Given the description of an element on the screen output the (x, y) to click on. 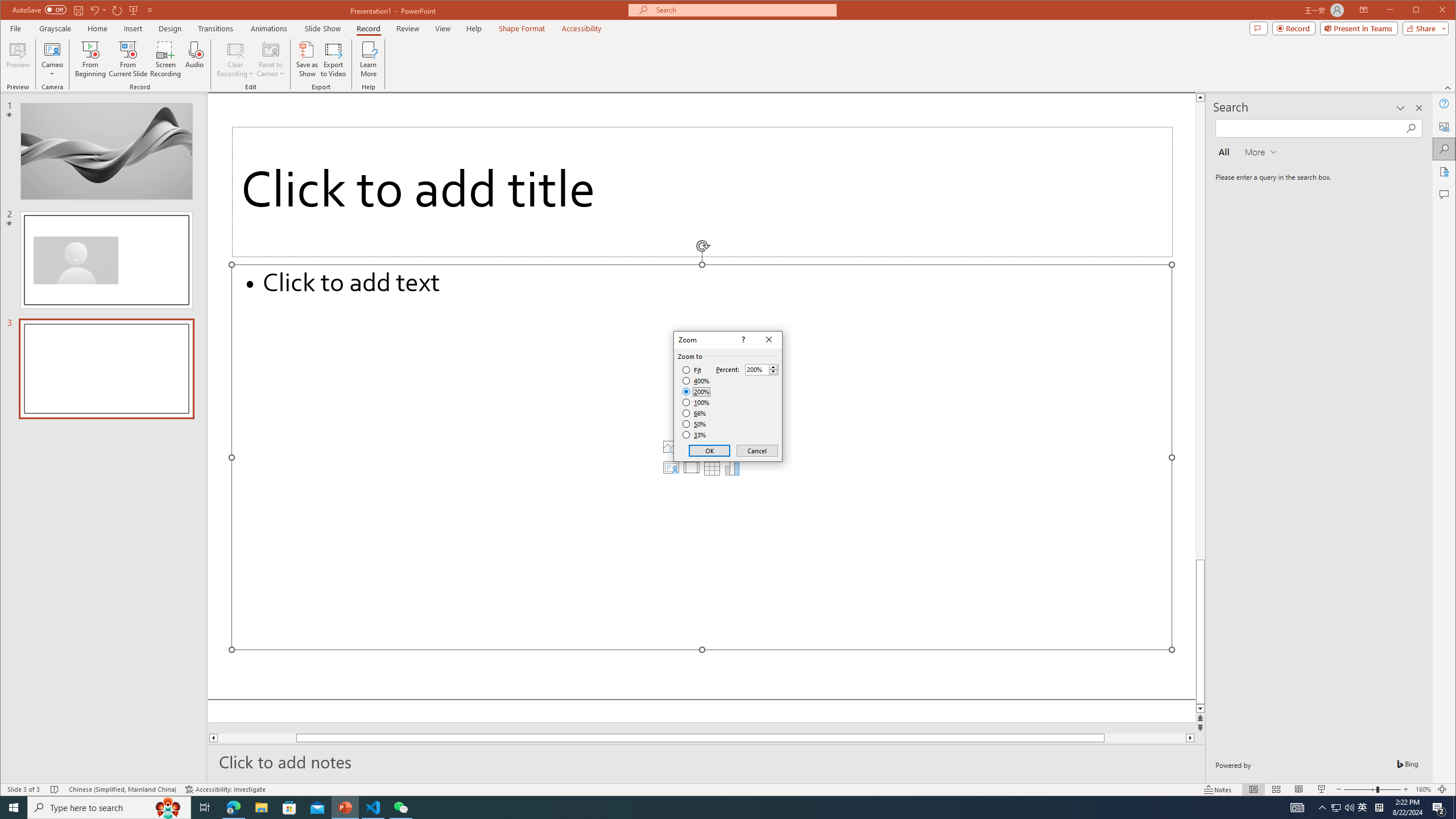
33% (694, 434)
200% (696, 391)
